Given the description of an element on the screen output the (x, y) to click on. 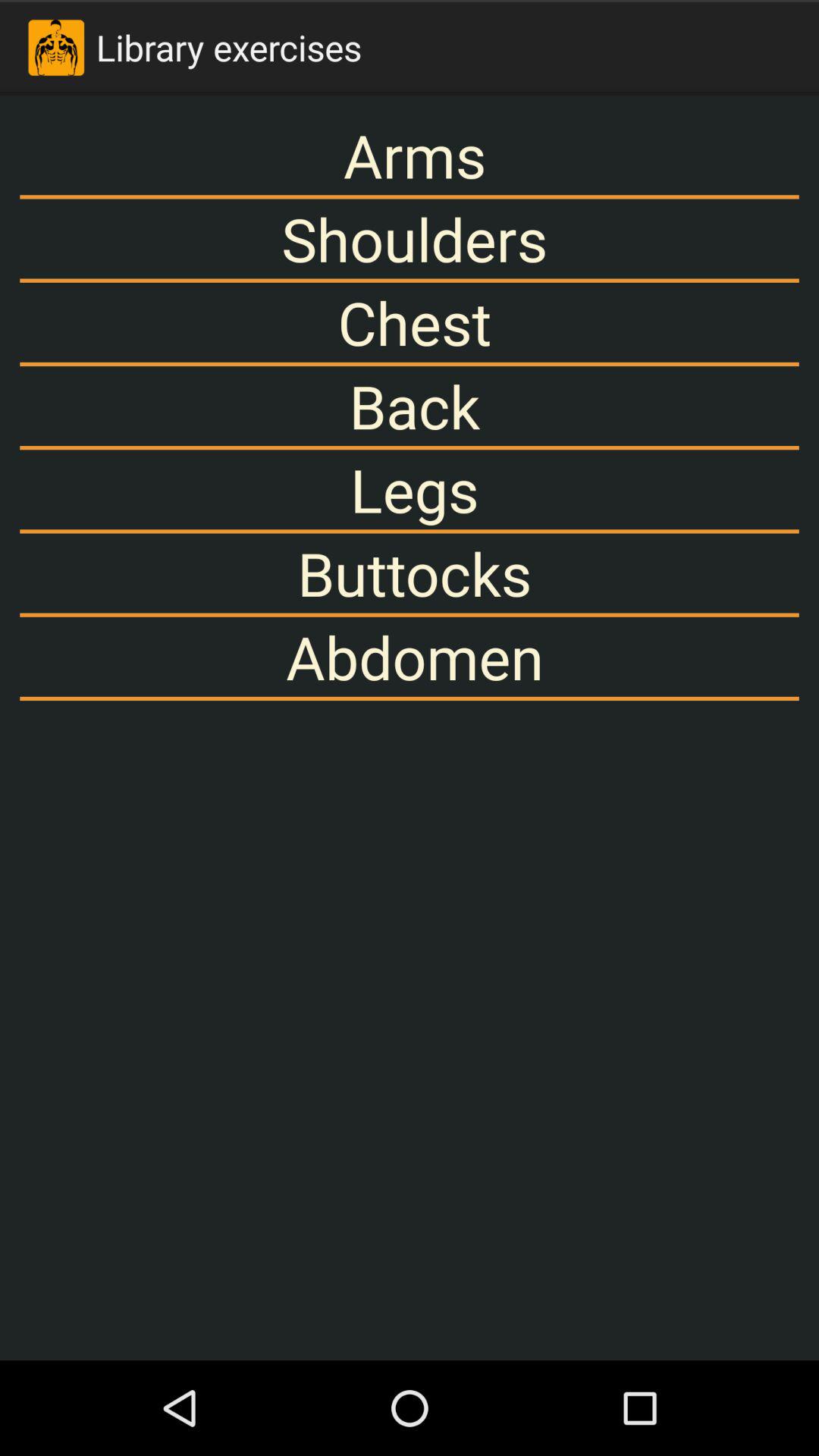
scroll until legs (409, 489)
